Given the description of an element on the screen output the (x, y) to click on. 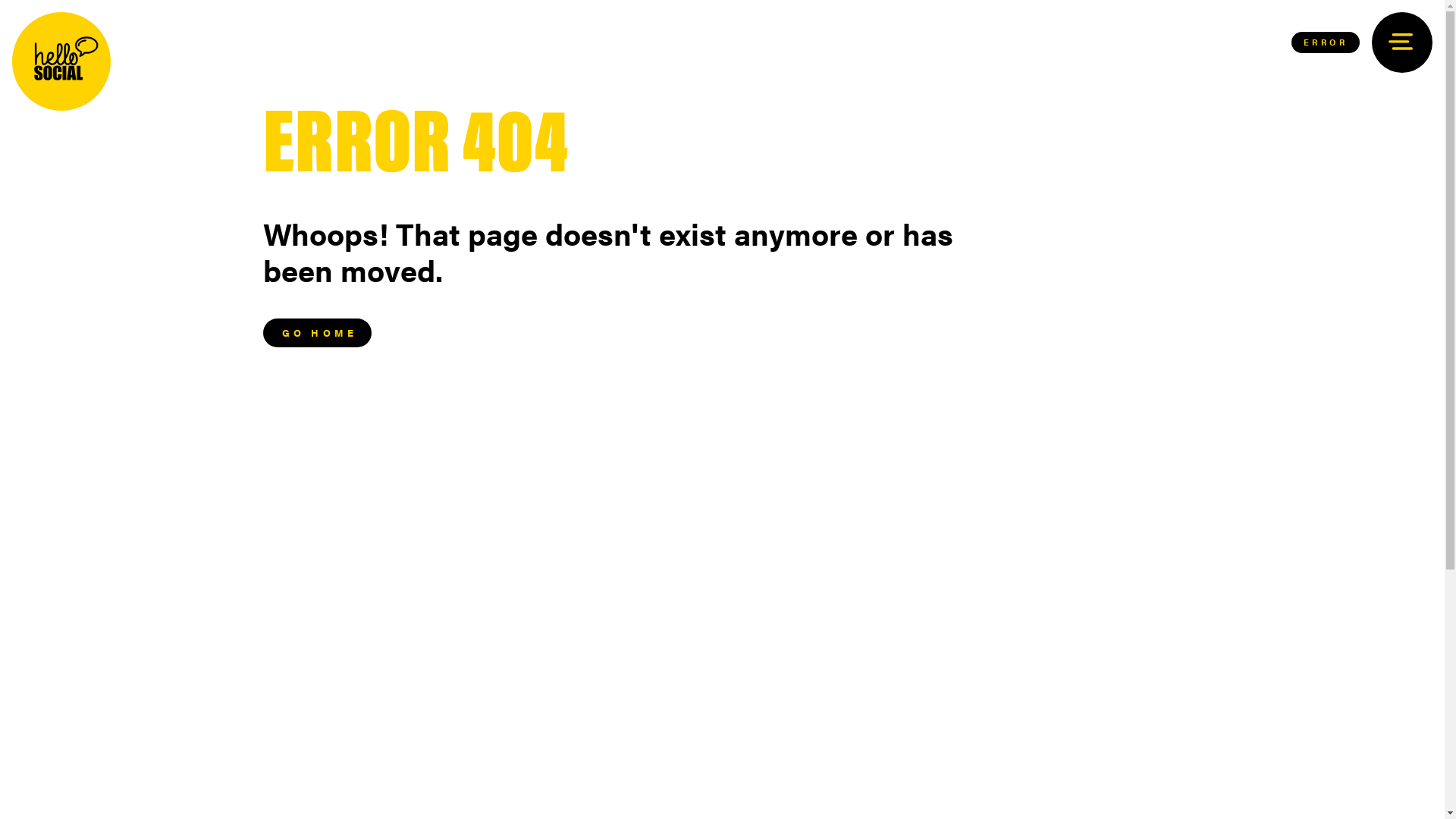
ERROR Element type: text (1325, 42)
GO HOME Element type: text (316, 332)
